Given the description of an element on the screen output the (x, y) to click on. 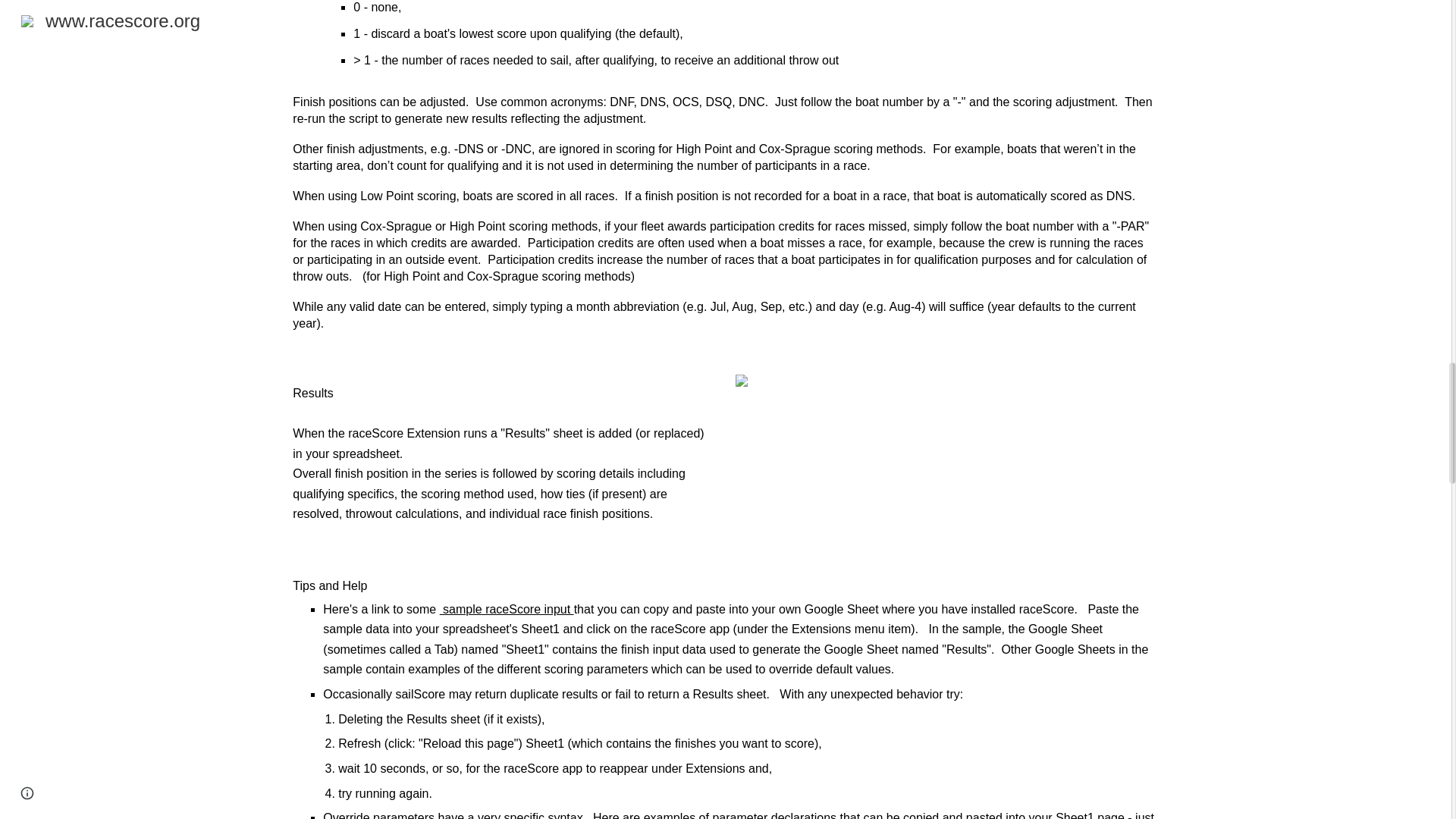
 sample raceScore input (506, 608)
